Given the description of an element on the screen output the (x, y) to click on. 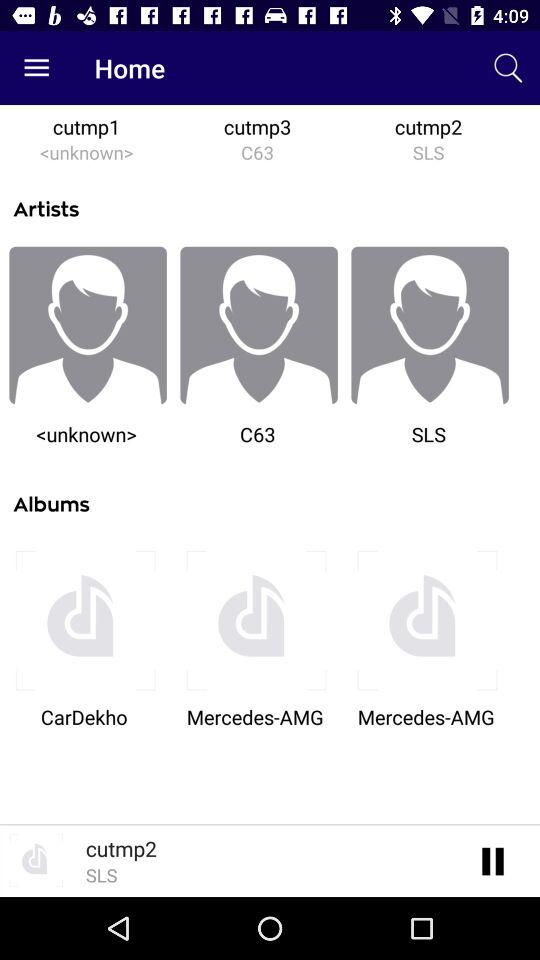
press icon next to the home (36, 68)
